Given the description of an element on the screen output the (x, y) to click on. 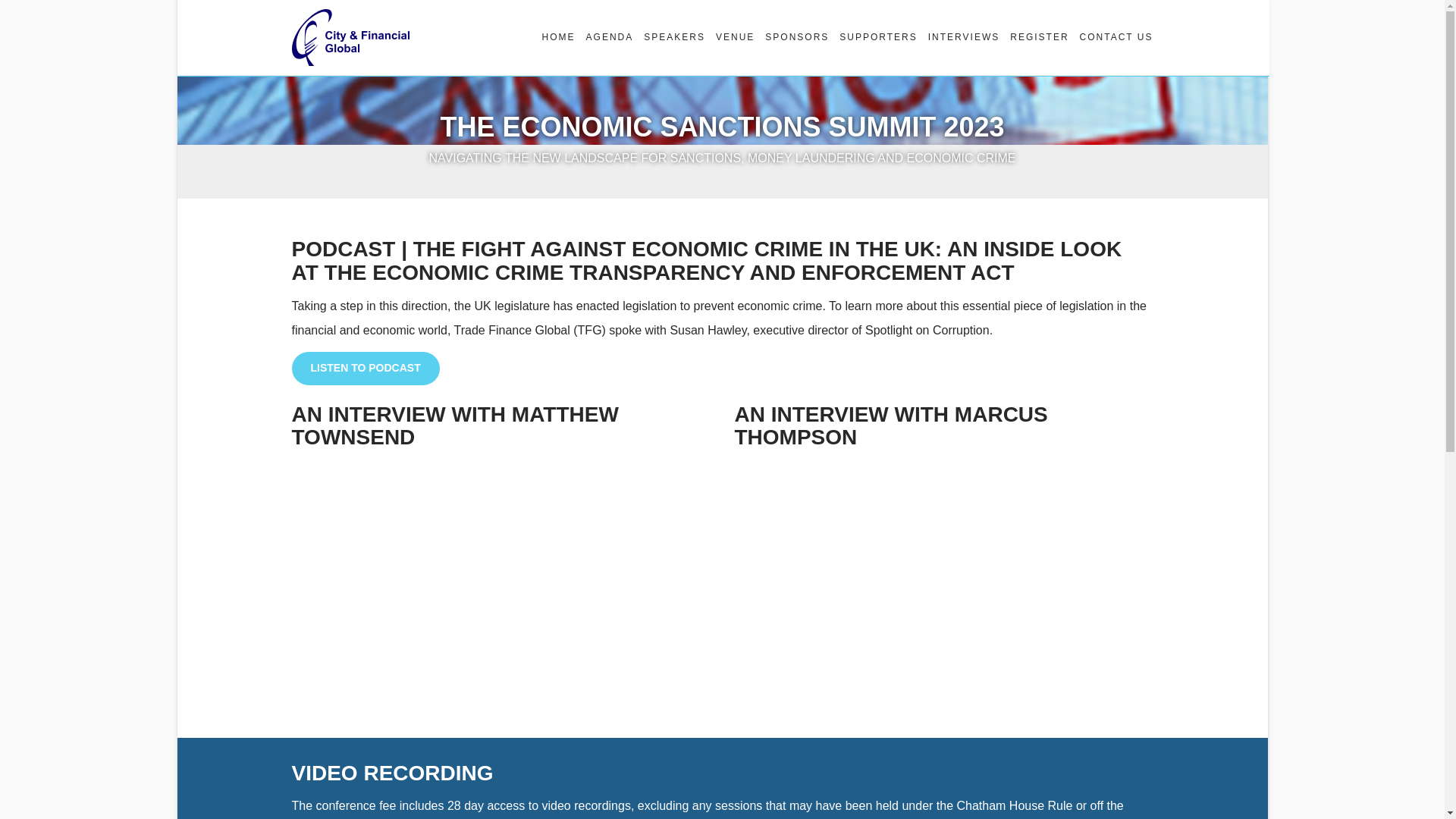
INTERVIEWS (960, 37)
VENUE (732, 37)
HOME (556, 37)
SUPPORTERS (874, 37)
SPONSORS (794, 37)
SPEAKERS (670, 37)
LISTEN TO PODCAST (365, 368)
AGENDA (607, 37)
REGISTER (1035, 37)
